Given the description of an element on the screen output the (x, y) to click on. 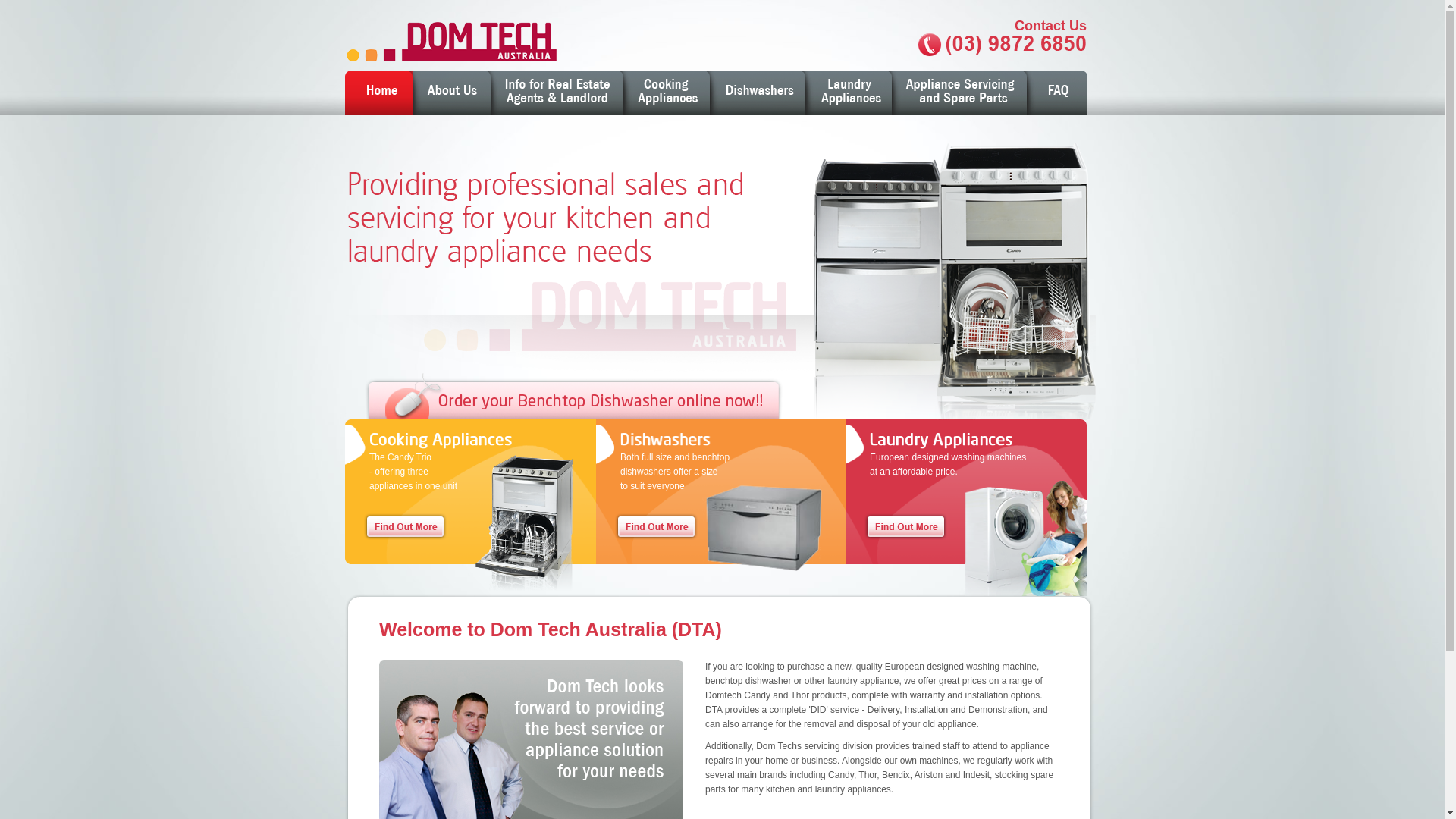
The Candy Trio
- offering three
appliances in one unit Element type: text (470, 491)
European designed washing machines
at an affordable price. Element type: text (965, 491)
Contact Us Element type: text (1001, 67)
